Given the description of an element on the screen output the (x, y) to click on. 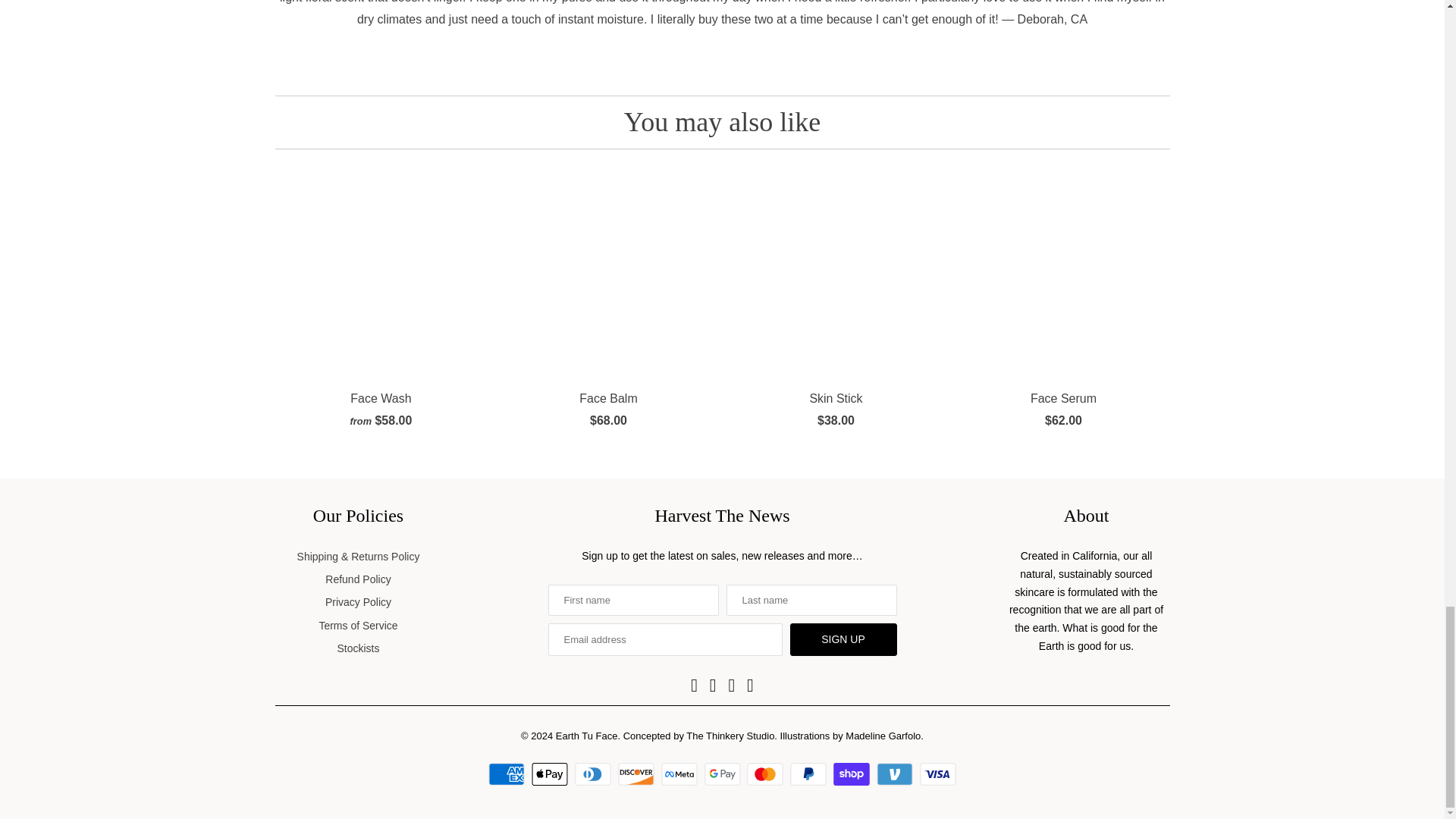
Mastercard (766, 773)
Apple Pay (551, 773)
Earth Tu Face on Instagram (730, 685)
Sign Up (843, 639)
Email Earth Tu Face (749, 685)
Earth Tu Face on Facebook (694, 685)
American Express (507, 773)
Shop Pay (852, 773)
Visa (938, 773)
Google Pay (723, 773)
Venmo (896, 773)
Meta Pay (681, 773)
Discover (637, 773)
Diners Club (594, 773)
Earth Tu Face on Pinterest (713, 685)
